Given the description of an element on the screen output the (x, y) to click on. 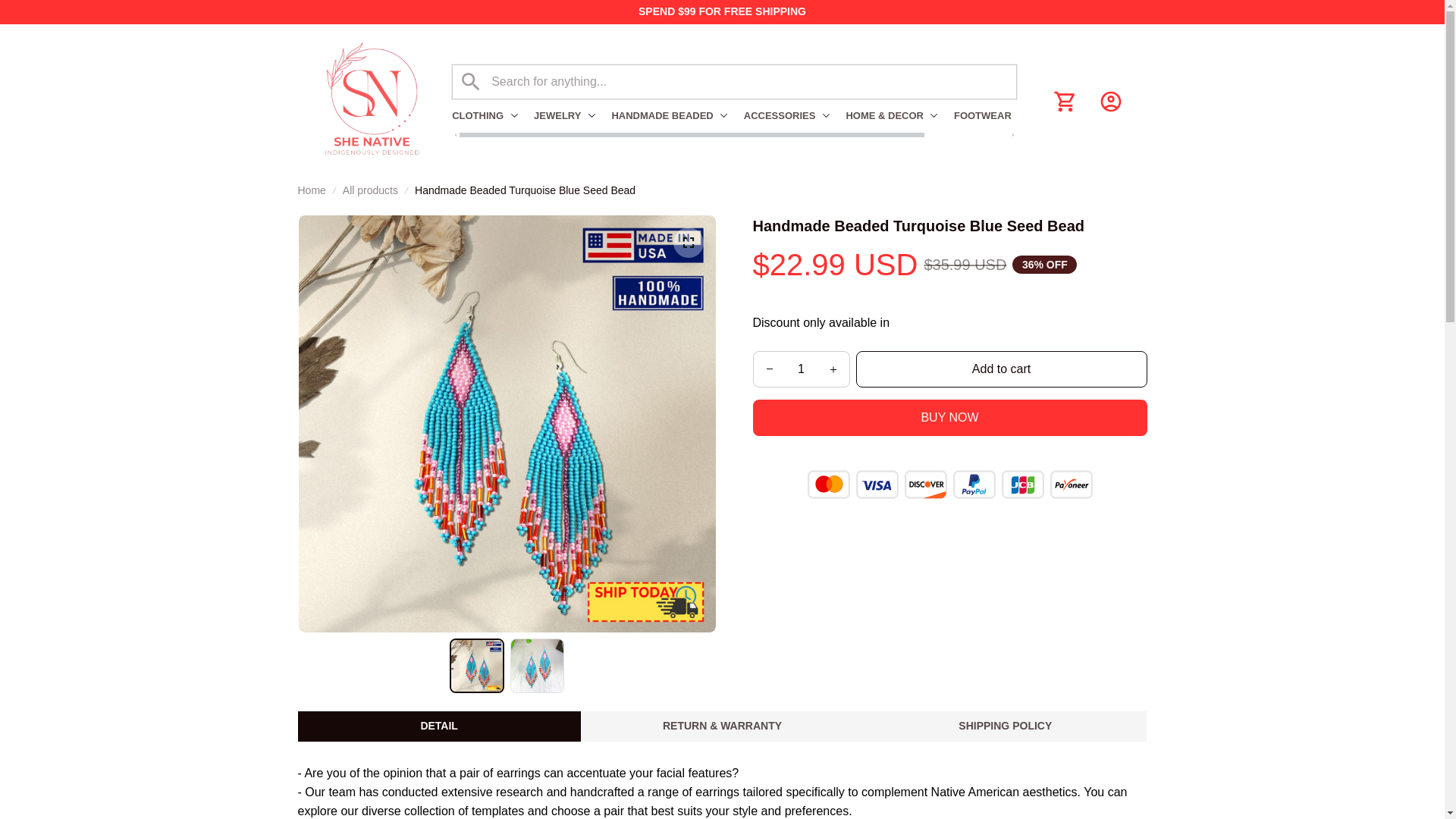
ACCESSORIES (787, 115)
1 (801, 369)
Home (310, 190)
DETAIL (438, 726)
All products (369, 190)
JEWELRY (564, 115)
CLOTHING (488, 115)
AWARENESS (1076, 115)
FOOTWEAR (989, 115)
SHIPPING POLICY (1005, 726)
HANDMADE BEADED (669, 115)
